Given the description of an element on the screen output the (x, y) to click on. 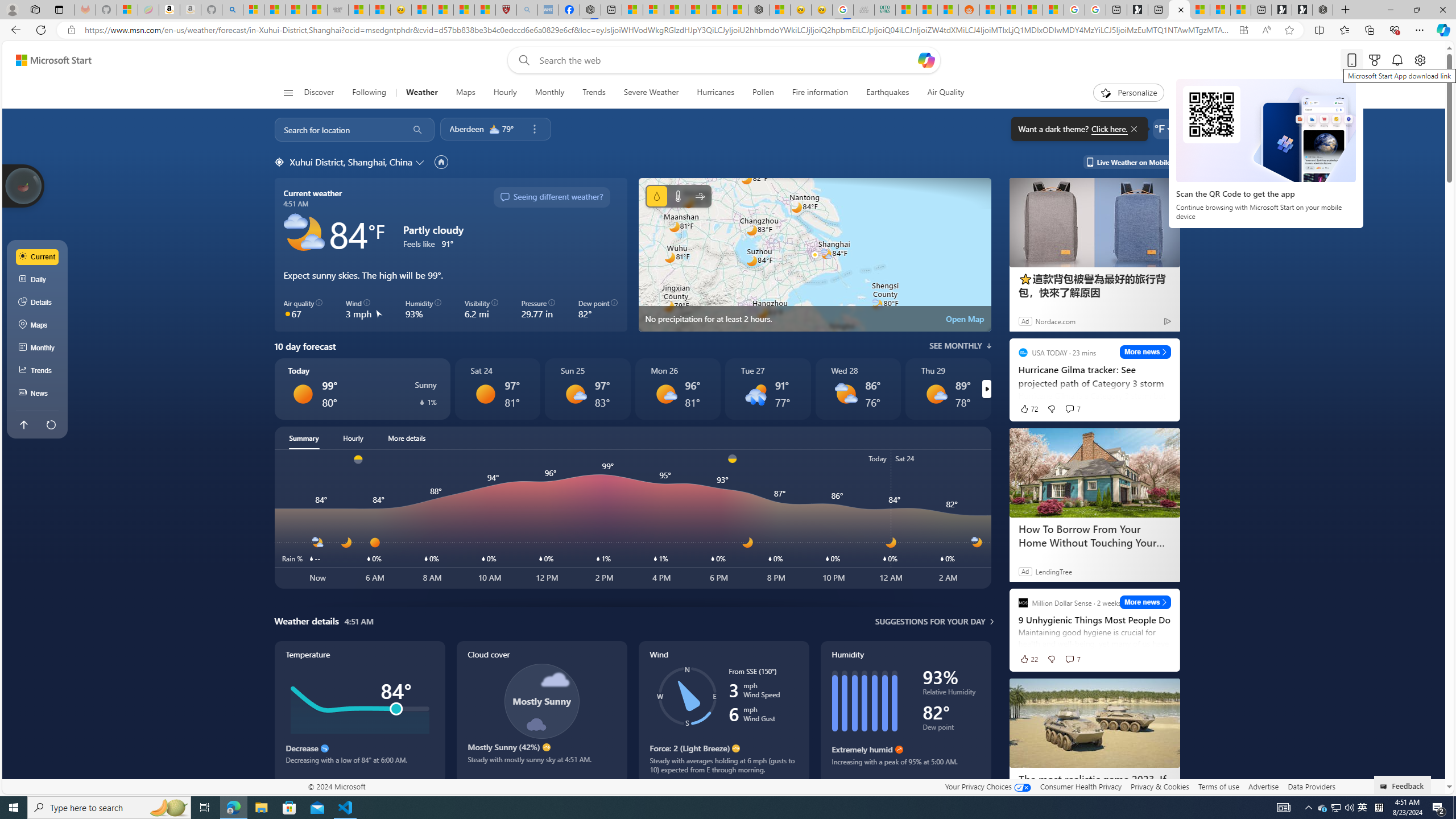
Decrease (324, 748)
Class: feedback_link_icon-DS-EntryPoint1-1 (1384, 786)
Data Providers (1311, 786)
Summary (303, 437)
Earthquakes (888, 92)
LendingTree (1053, 570)
Stocks - MSN (316, 9)
Set as primary location (440, 161)
